Given the description of an element on the screen output the (x, y) to click on. 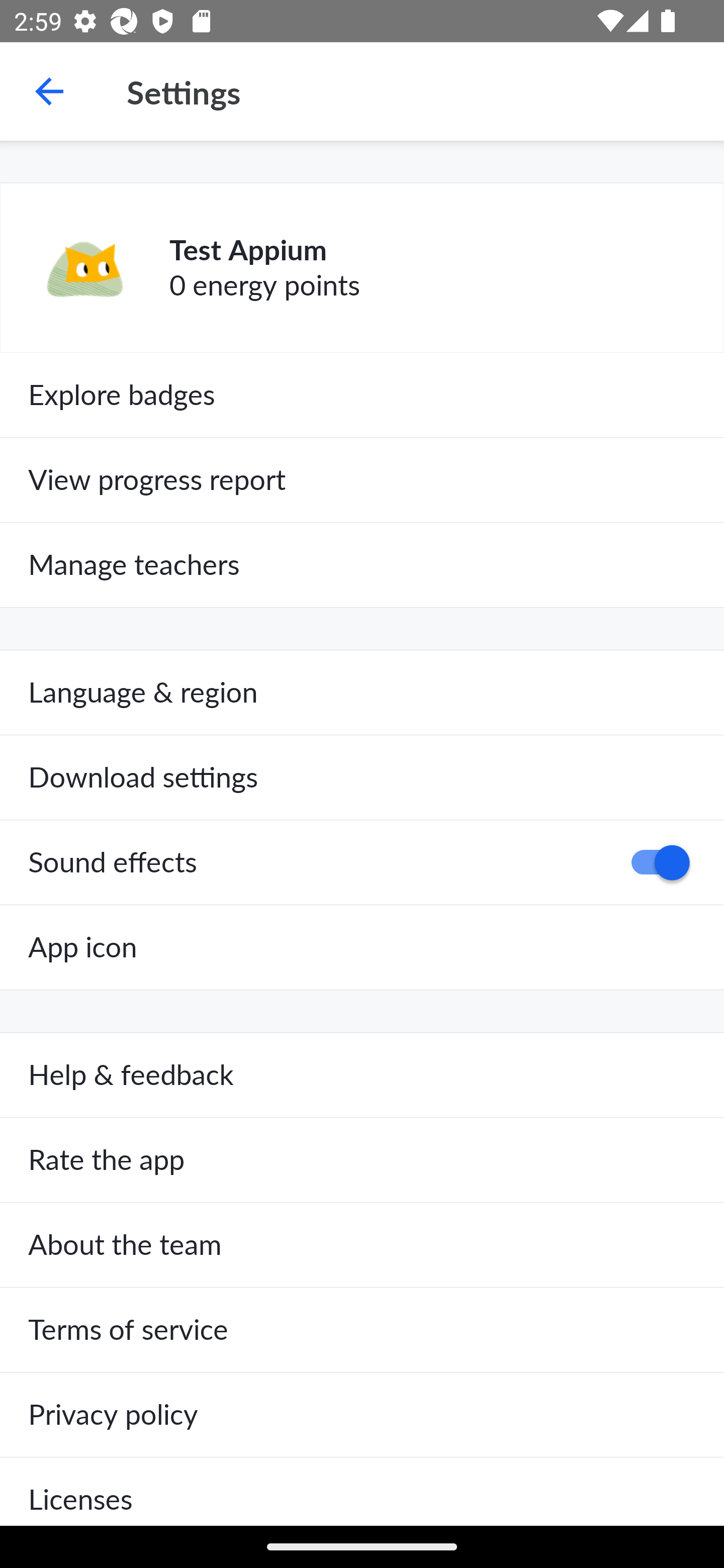
Navigate up (49, 91)
Explore badges (362, 394)
View progress report (362, 479)
Manage teachers (362, 565)
Language & region (362, 692)
Download settings (362, 777)
ON (653, 861)
App icon (362, 946)
Help & feedback (362, 1075)
Rate the app (362, 1159)
About the team (362, 1244)
Terms of service (362, 1329)
Privacy policy (362, 1414)
Licenses (362, 1490)
